Given the description of an element on the screen output the (x, y) to click on. 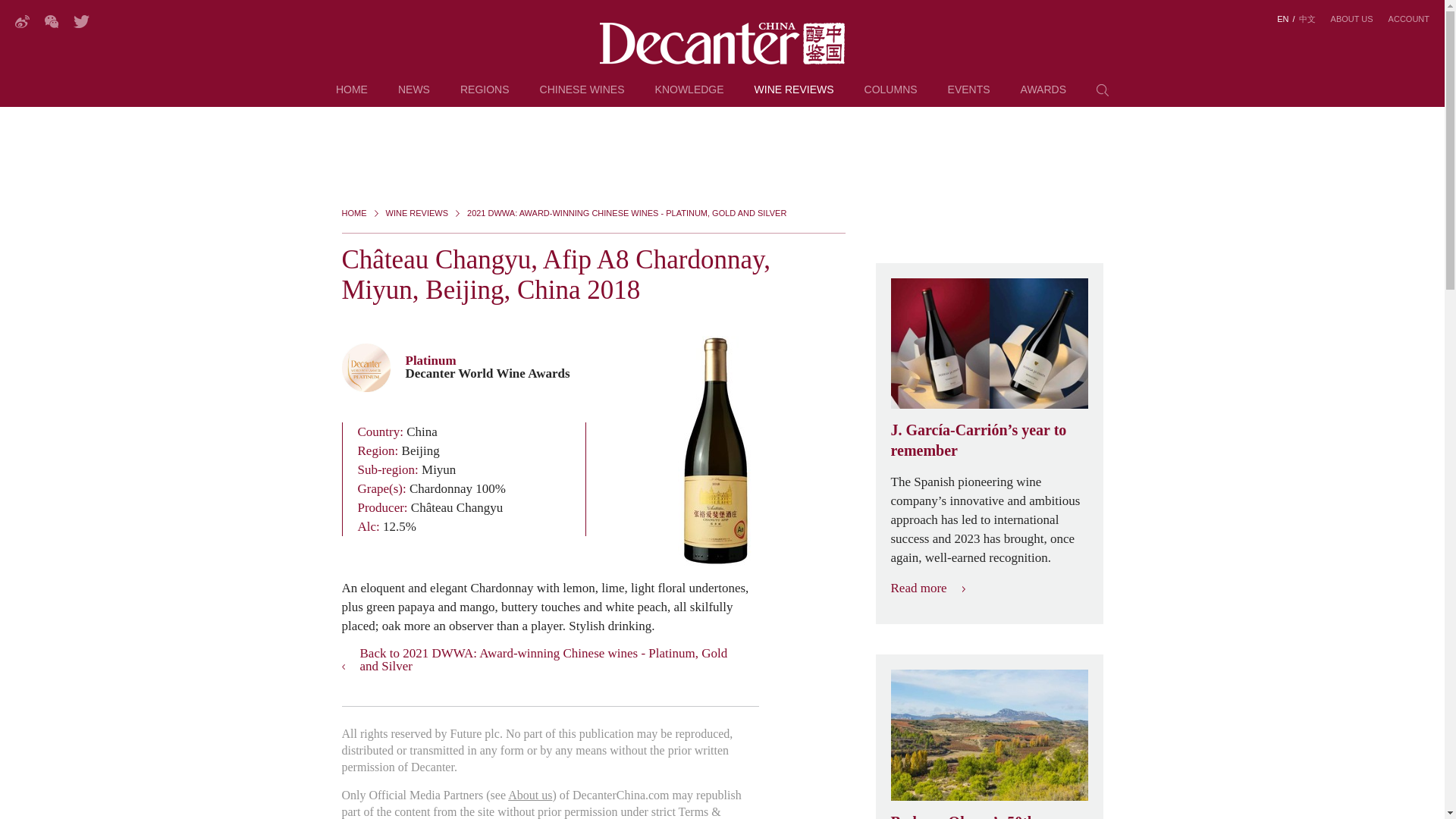
ACCOUNT (1409, 18)
DECANTER CHINA (721, 43)
WINE REVIEWS (794, 95)
AWARDS (1042, 95)
EVENTS (968, 95)
EN (1282, 18)
CHINESE WINES (582, 95)
REGIONS (484, 95)
KNOWLEDGE (689, 95)
COLUMNS (890, 95)
